Given the description of an element on the screen output the (x, y) to click on. 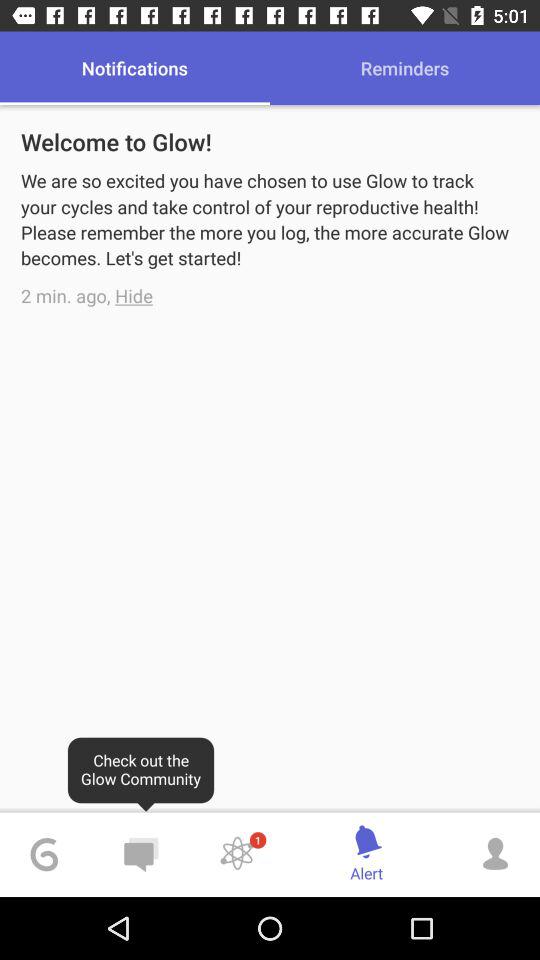
tap the hide item (133, 295)
